Given the description of an element on the screen output the (x, y) to click on. 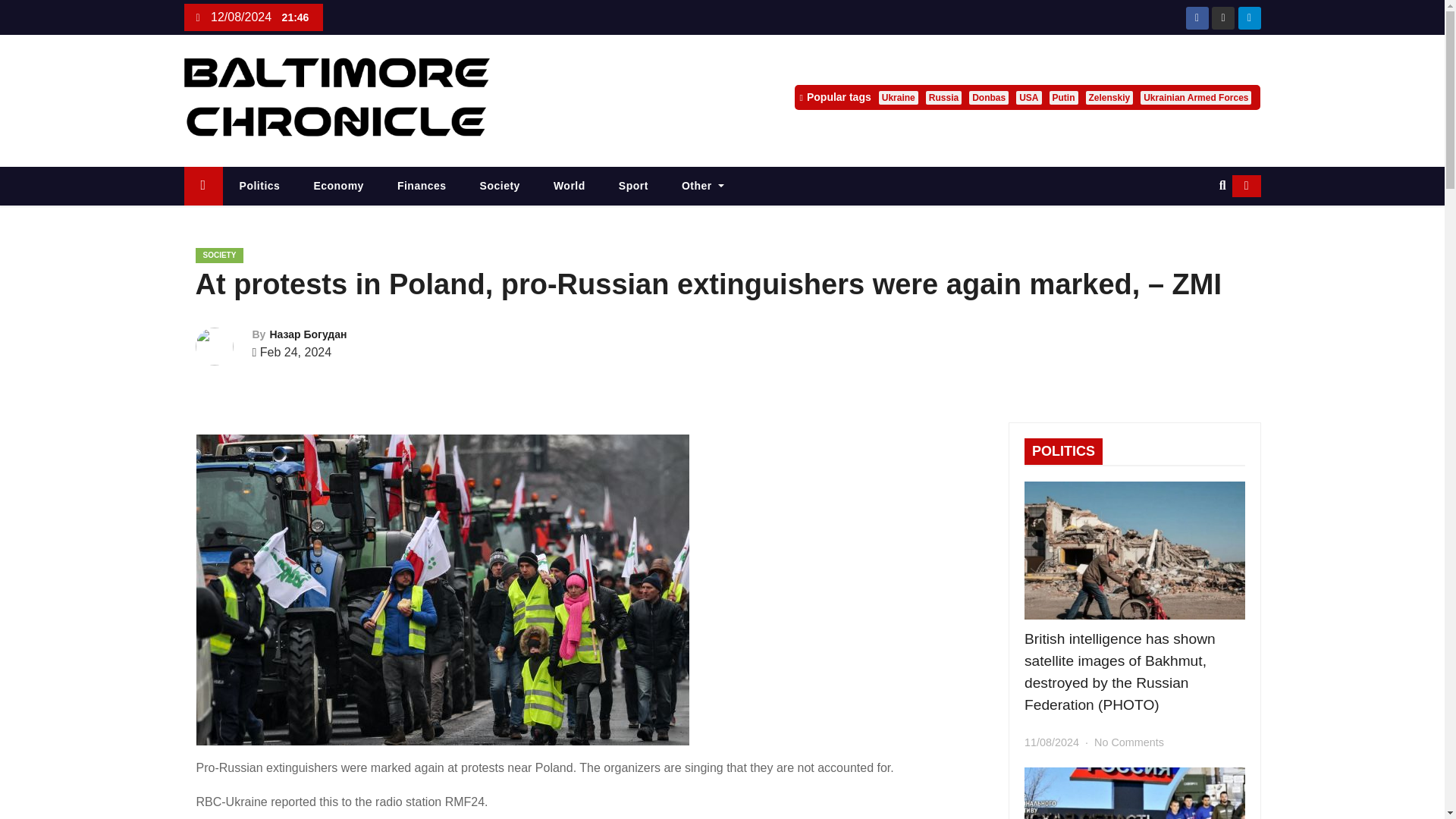
Putin (1063, 97)
Economy (338, 186)
Ukrainian Armed Forces (1195, 97)
Finances (421, 186)
SOCIETY (219, 255)
World (569, 186)
World (569, 186)
Other (703, 186)
Other (703, 186)
Ukraine (898, 97)
